Given the description of an element on the screen output the (x, y) to click on. 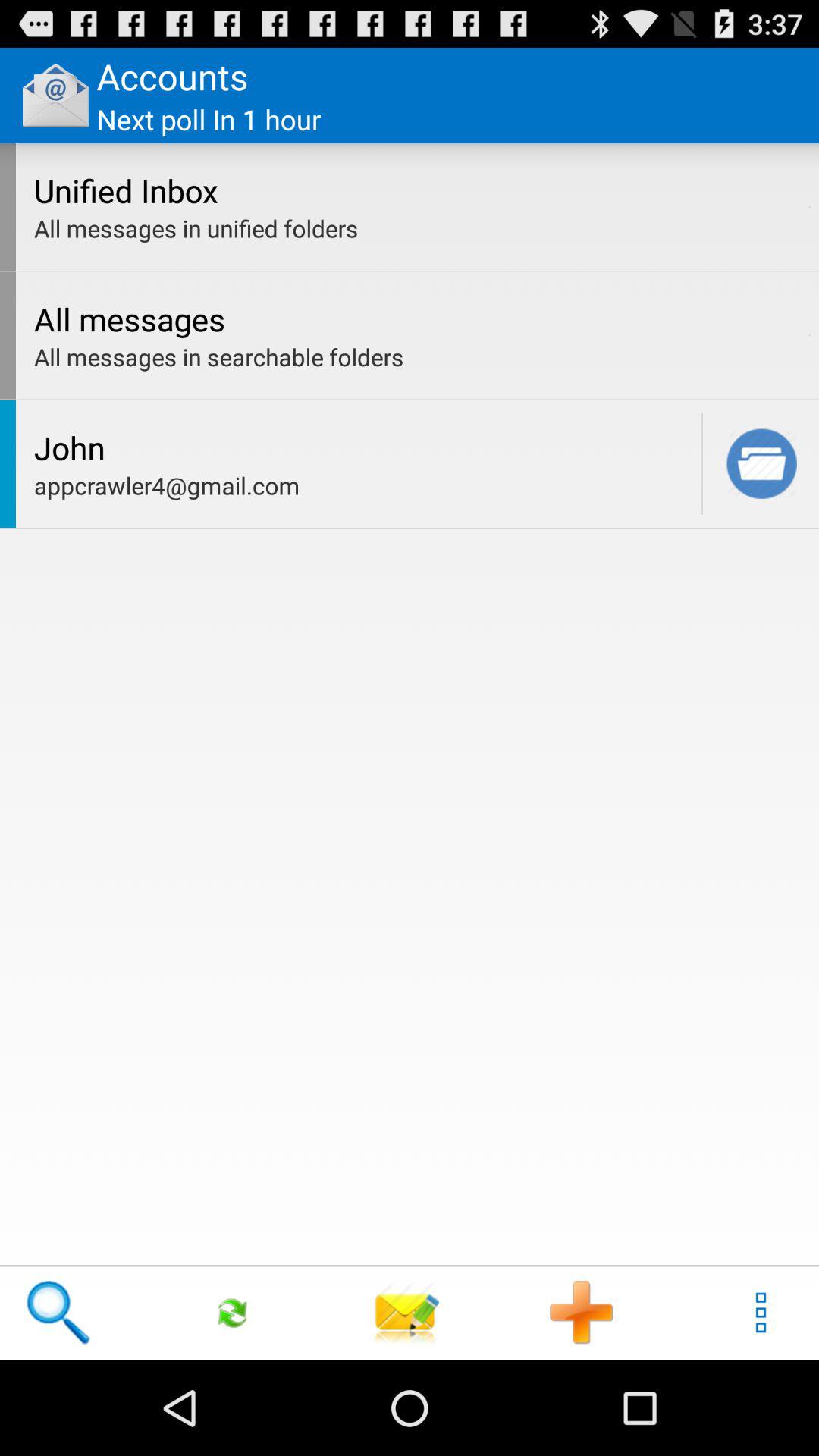
click item next to the unified inbox (809, 206)
